Given the description of an element on the screen output the (x, y) to click on. 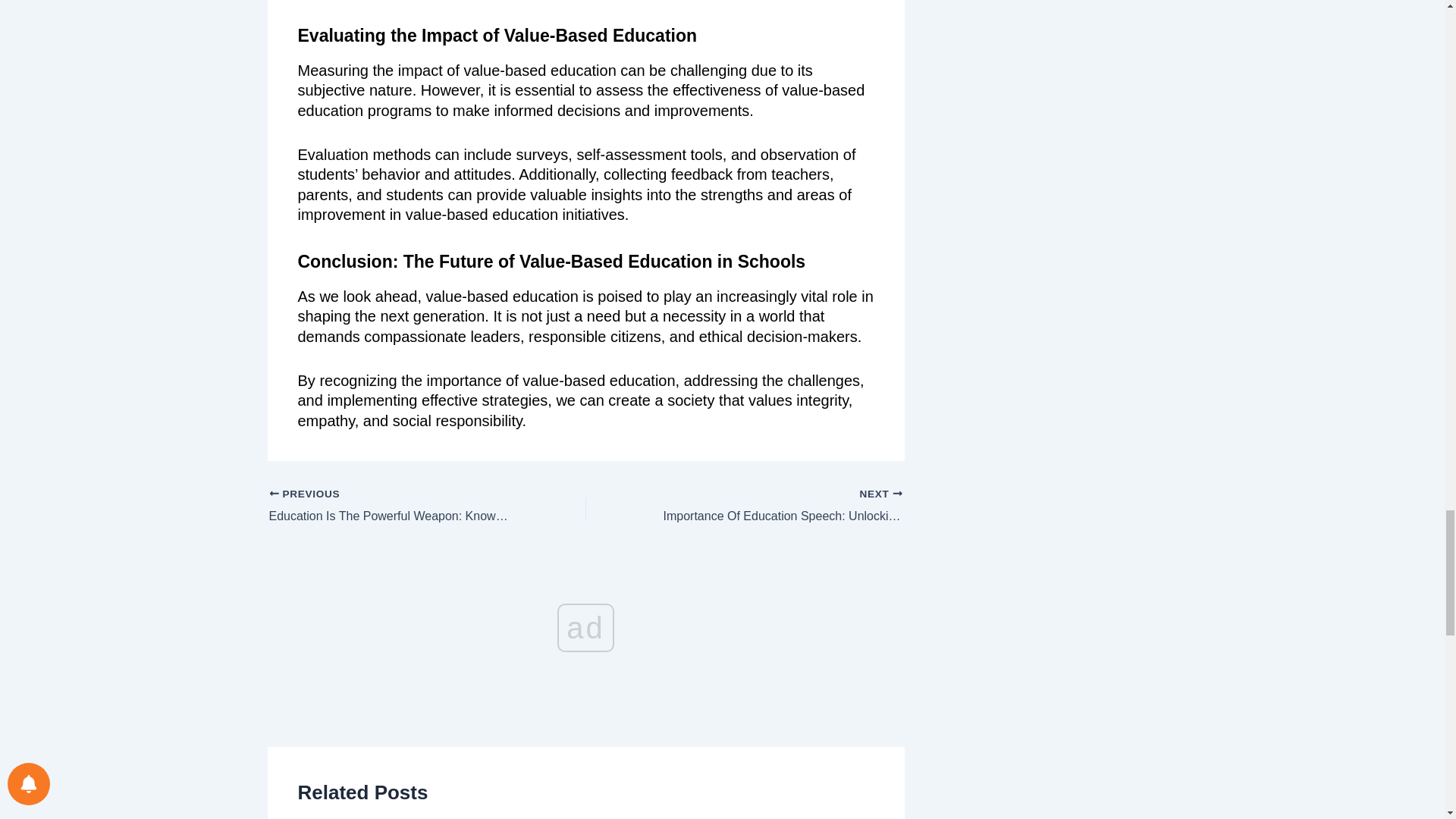
Education Is The Powerful Weapon: Knowledge Transform Lives (394, 506)
Importance Of Education Speech: Unlocking Power of Education (774, 506)
